Given the description of an element on the screen output the (x, y) to click on. 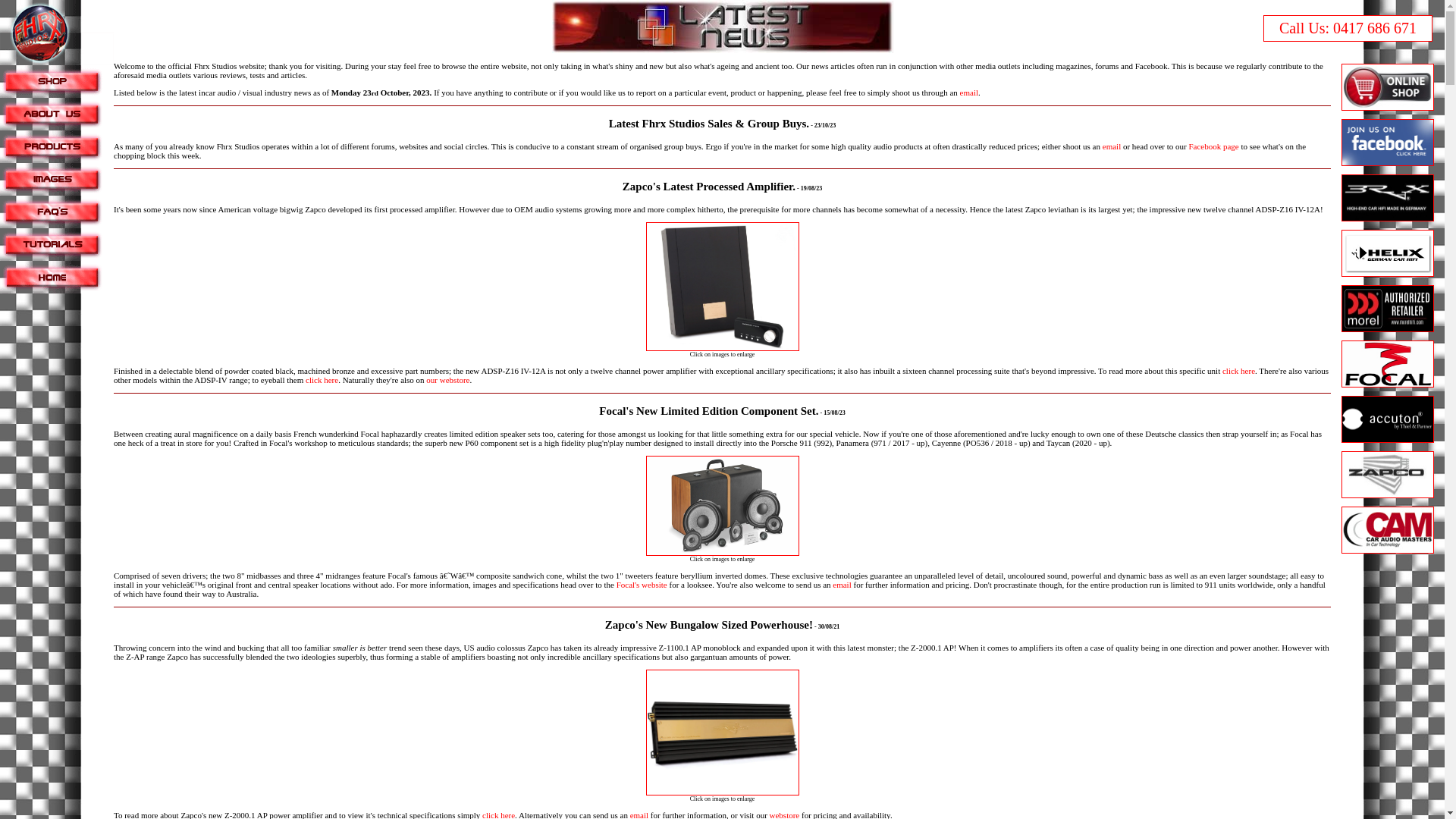
Focal's website Element type: text (641, 584)
Call Us: 0417 686 671 Element type: text (1347, 27)
Facebook page Element type: text (1213, 145)
email Element type: text (841, 584)
our webstore Element type: text (447, 379)
click here Element type: text (321, 379)
email Element type: text (969, 92)
email Element type: text (1111, 145)
click here Element type: text (1238, 370)
